Given the description of an element on the screen output the (x, y) to click on. 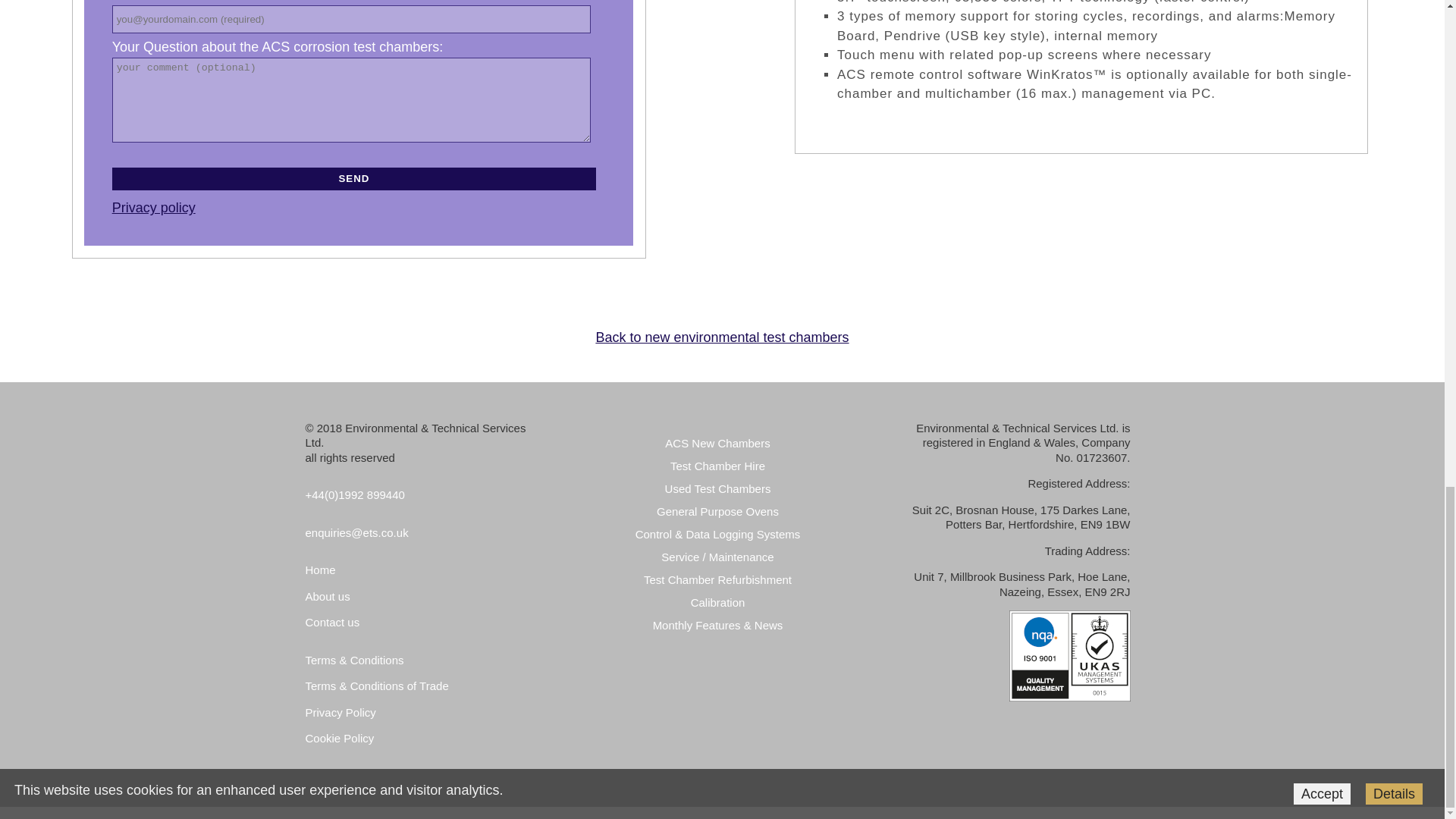
SEND (353, 178)
SEND (353, 178)
About us (326, 595)
Privacy Policy (339, 712)
Back to new environmental test chambers (721, 337)
Contact us (331, 621)
Privacy policy (153, 207)
Home (319, 569)
